Given the description of an element on the screen output the (x, y) to click on. 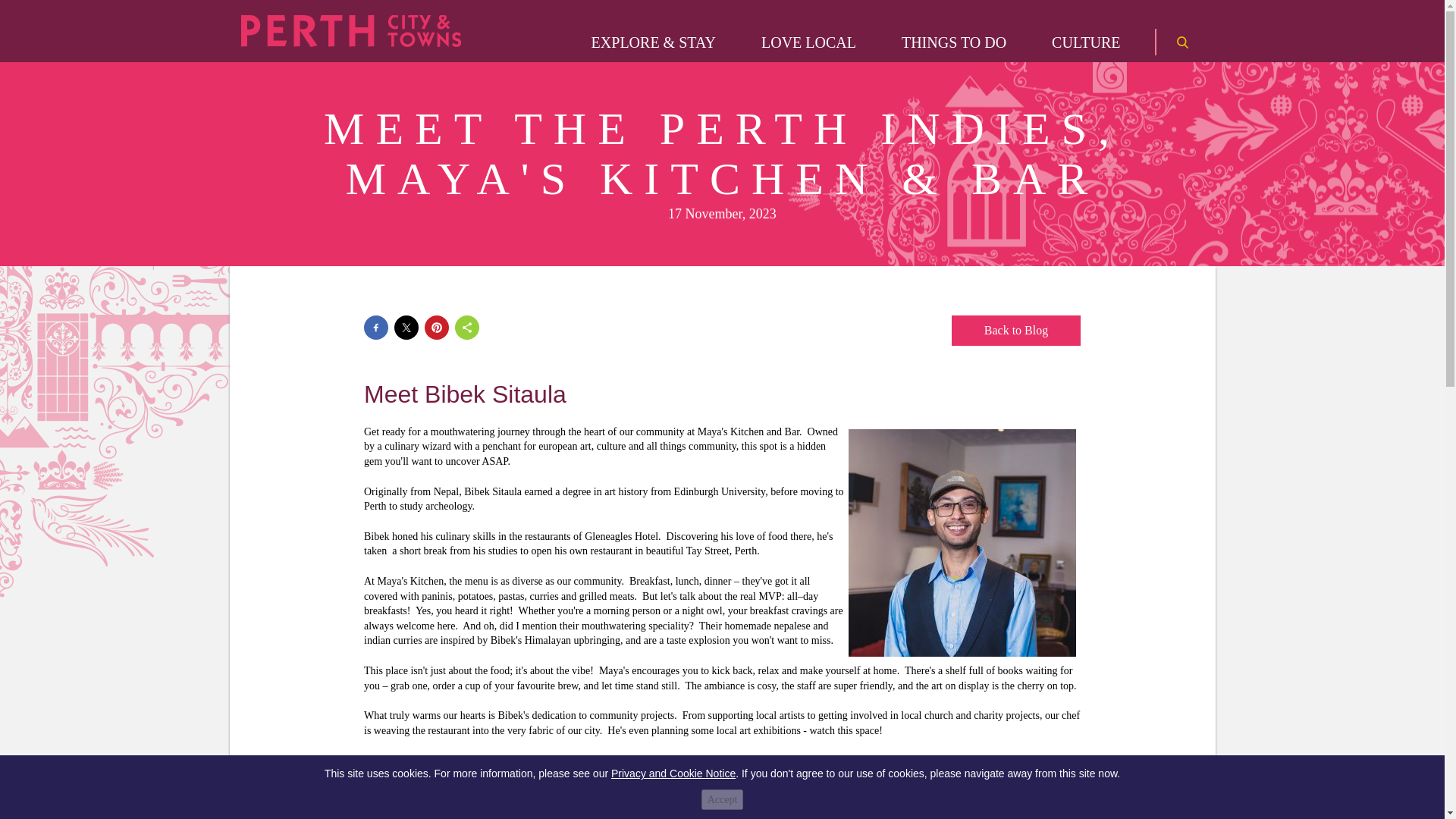
Accept (722, 799)
Accept (722, 799)
Privacy and Cookie Notice (673, 773)
